Given the description of an element on the screen output the (x, y) to click on. 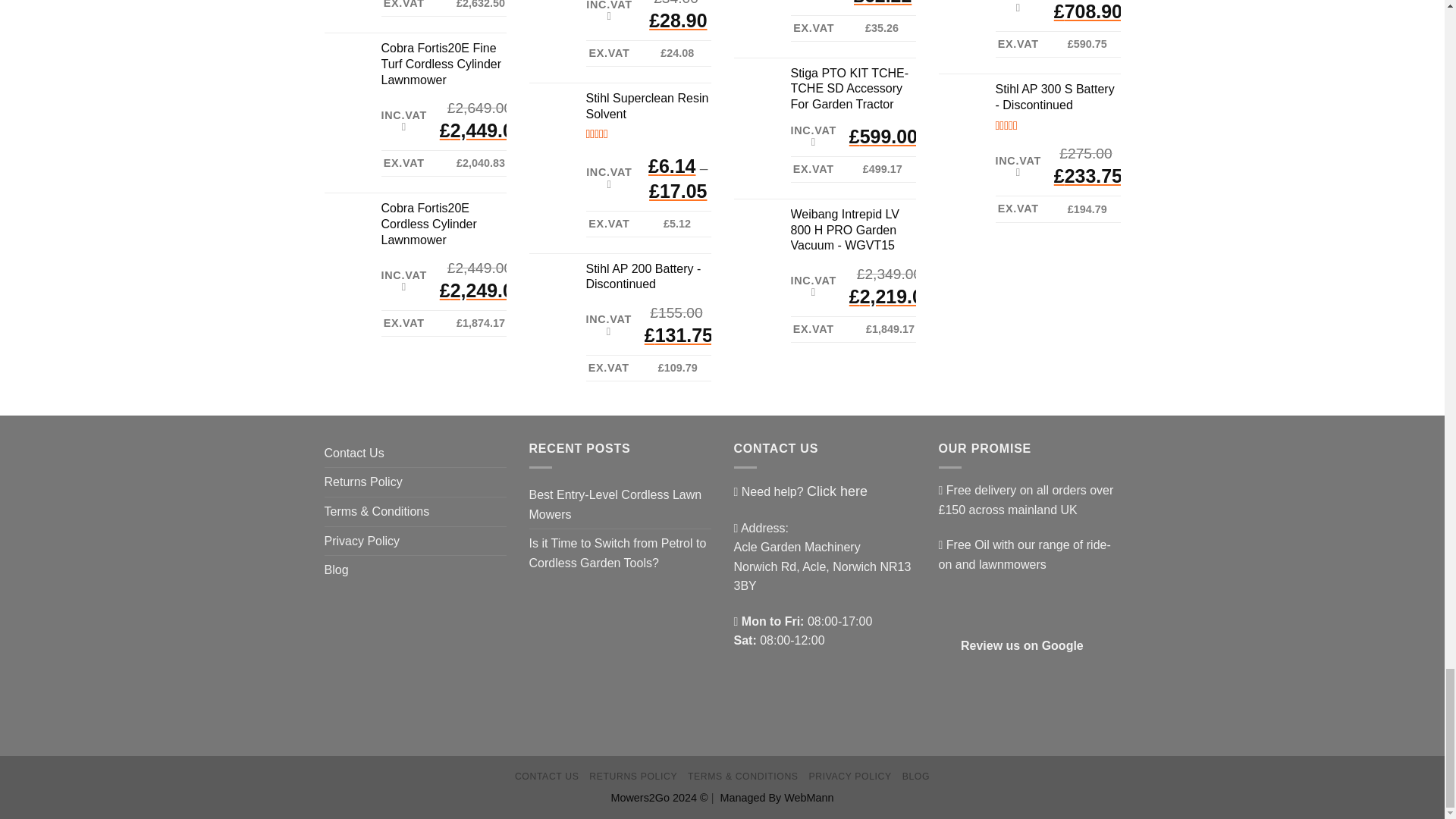
Customer reviews powered by Trustpilot (1030, 728)
